Given the description of an element on the screen output the (x, y) to click on. 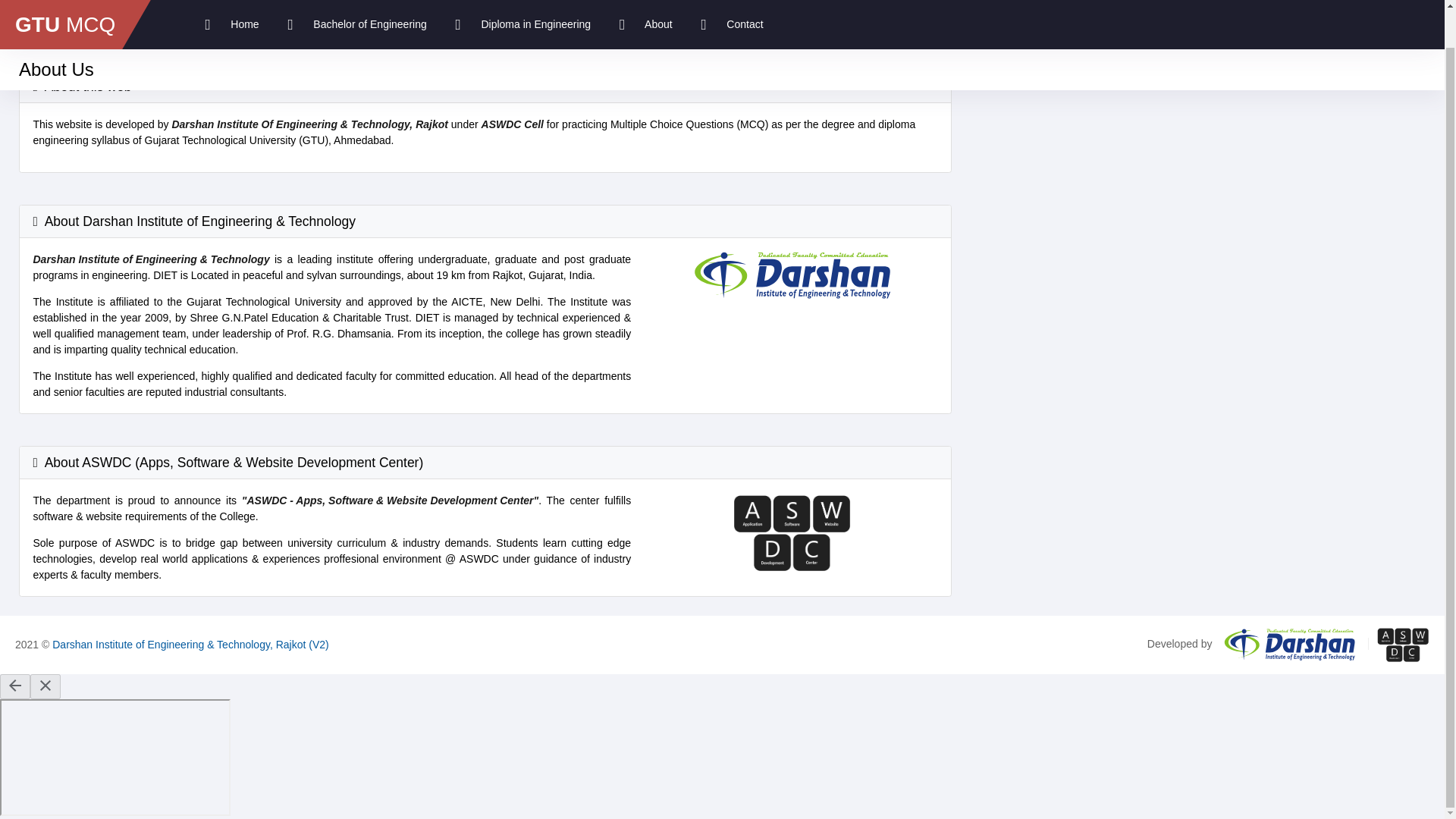
GTU MCQ (68, 4)
GTU MCQ - Solutions (68, 4)
